Given the description of an element on the screen output the (x, y) to click on. 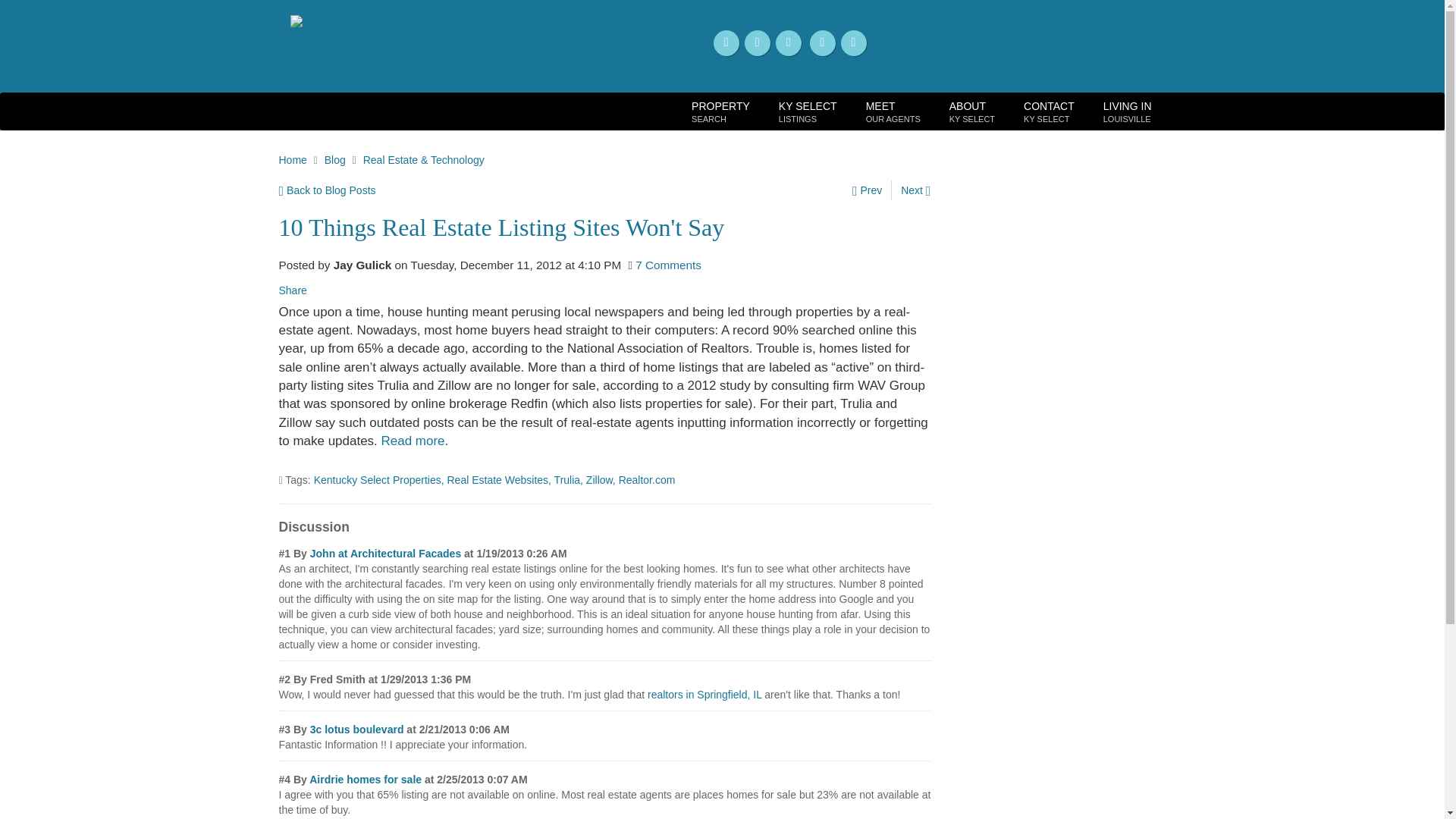
Blog (892, 111)
Home (1049, 111)
